Given the description of an element on the screen output the (x, y) to click on. 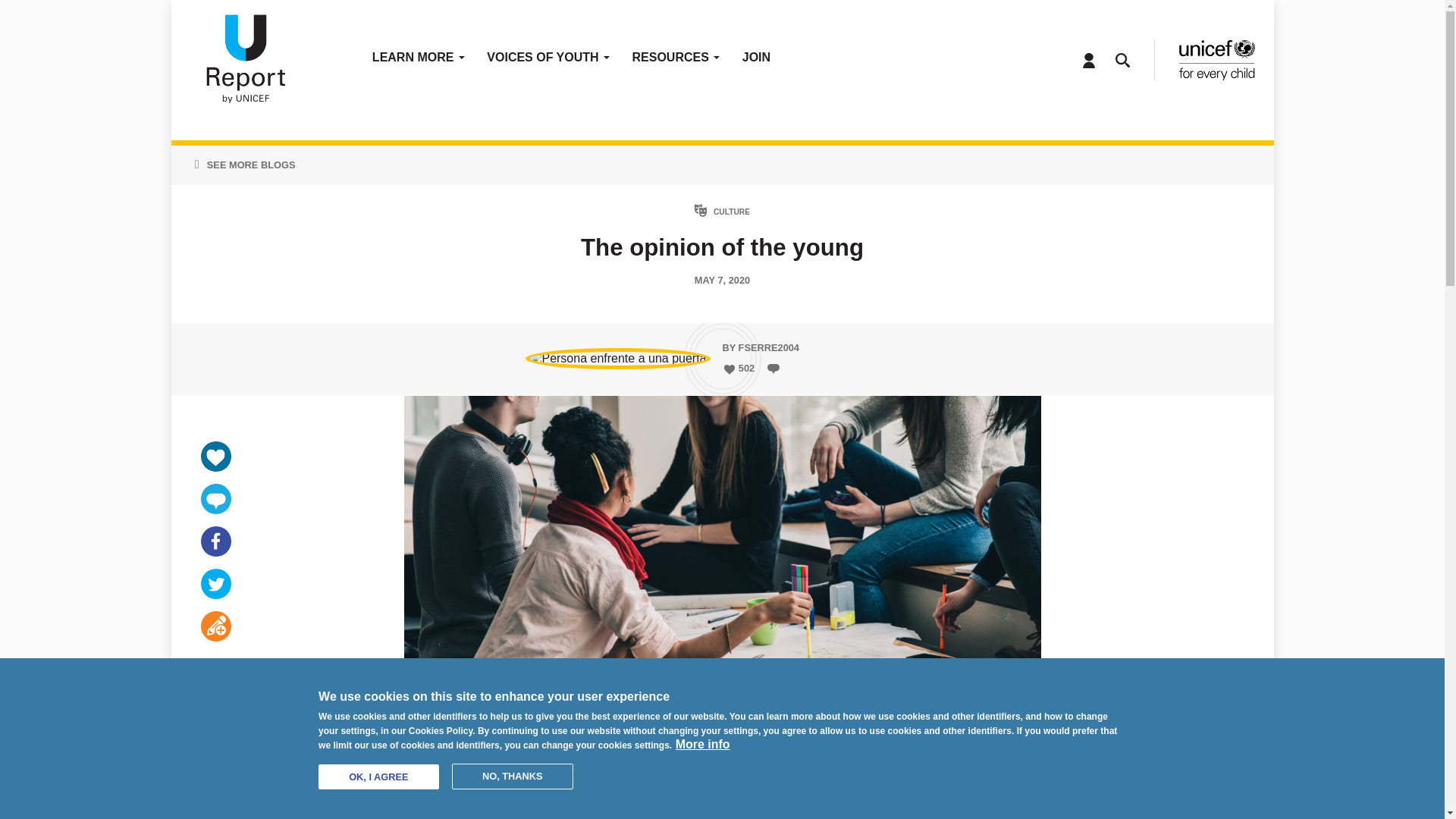
VOICES OF YOUTH (548, 60)
Comments (215, 499)
Comments (773, 368)
Like (728, 368)
RESOURCES (675, 60)
JOIN (756, 60)
FSERRE2004 (768, 346)
Image (1215, 60)
Log in (1088, 60)
Image (244, 60)
Like (215, 456)
Post (215, 625)
CULTURE (731, 212)
LEARN MORE (418, 60)
